Given the description of an element on the screen output the (x, y) to click on. 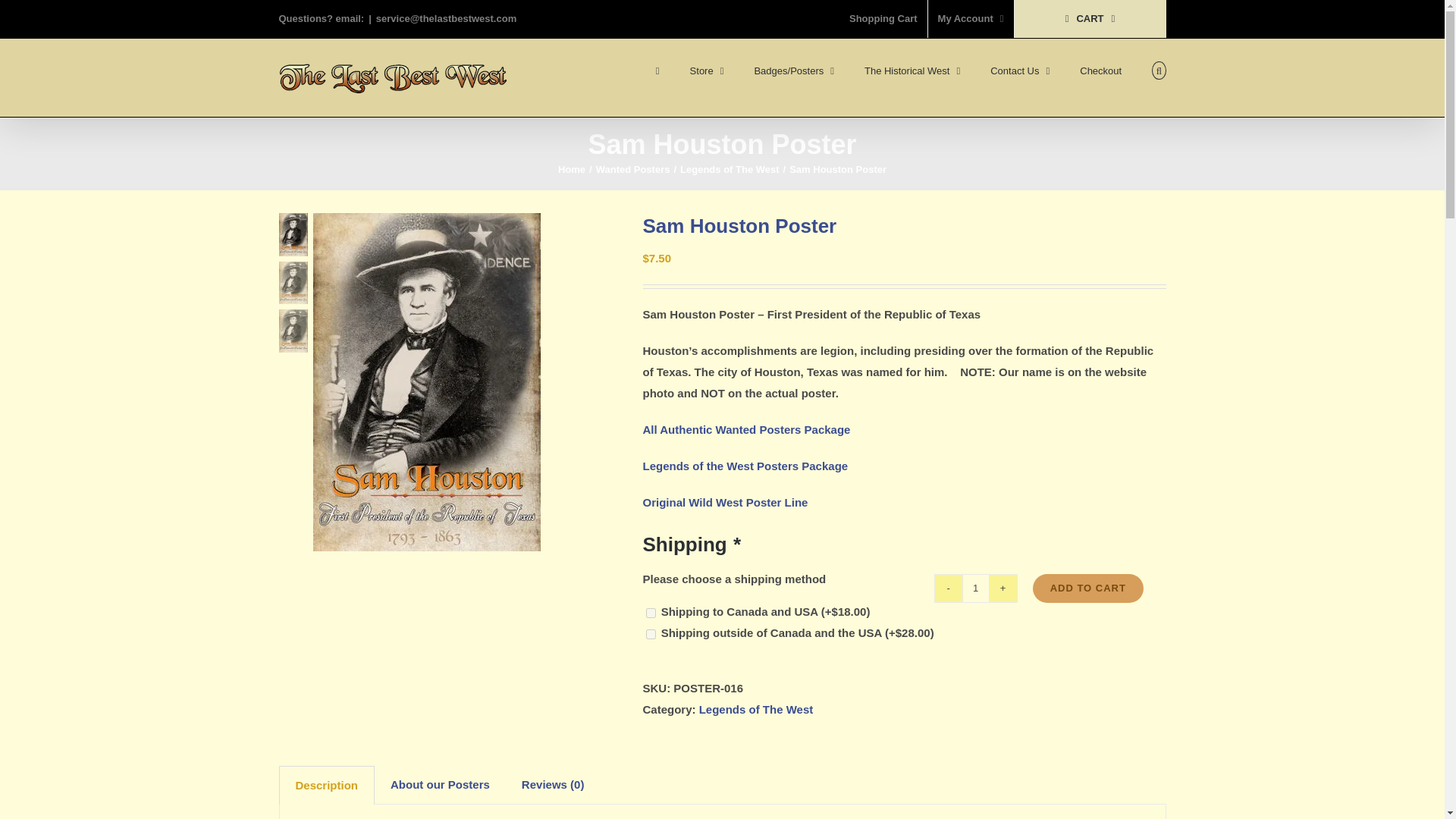
Shopping Cart (883, 18)
shipping-outside-of-canada-and-the-usa (651, 634)
shipping-to-canada-and-usa (651, 613)
CART (1090, 18)
Log In (1029, 162)
1 (976, 587)
- (948, 587)
My Account (970, 18)
